Given the description of an element on the screen output the (x, y) to click on. 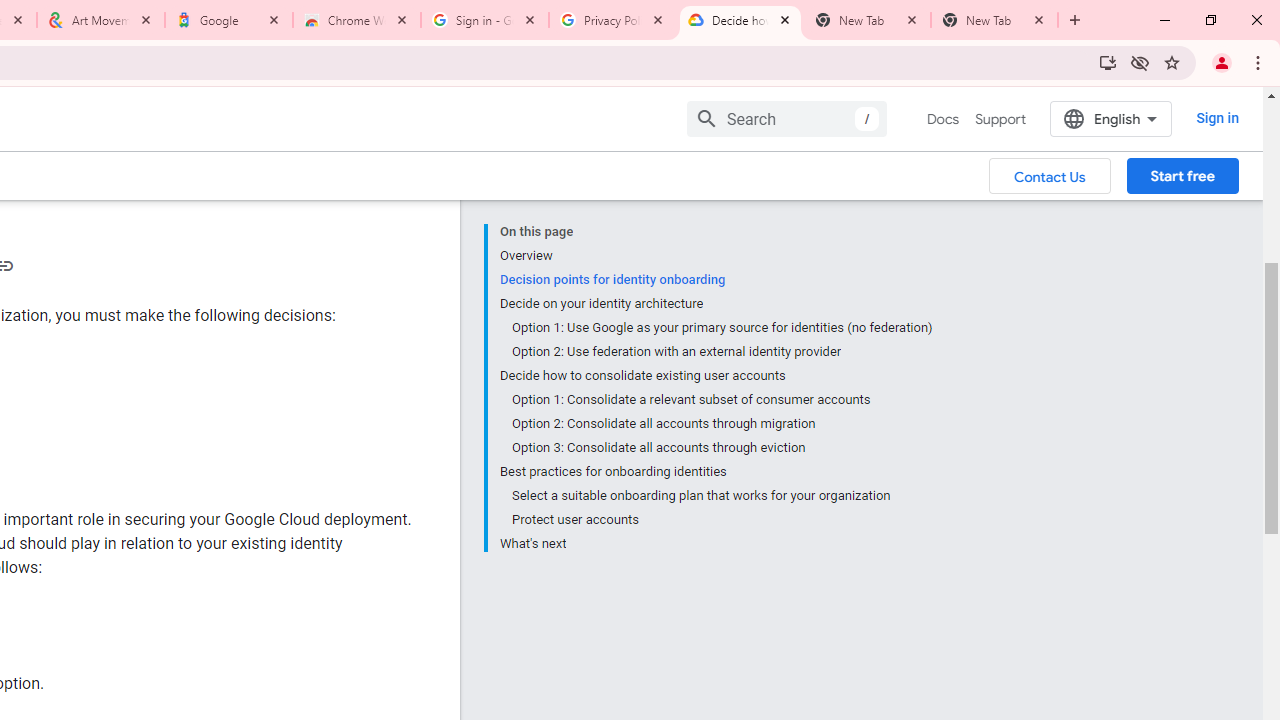
Option 2: Use federation with an external identity provider (721, 351)
Decision points for identity onboarding (716, 279)
What's next (716, 542)
Sign in - Google Accounts (485, 20)
Docs, selected (942, 119)
Decide on your identity architecture (716, 304)
Support (1000, 119)
Option 1: Consolidate a relevant subset of consumer accounts (721, 399)
Install Google Cloud (1107, 62)
Protect user accounts (721, 520)
